Given the description of an element on the screen output the (x, y) to click on. 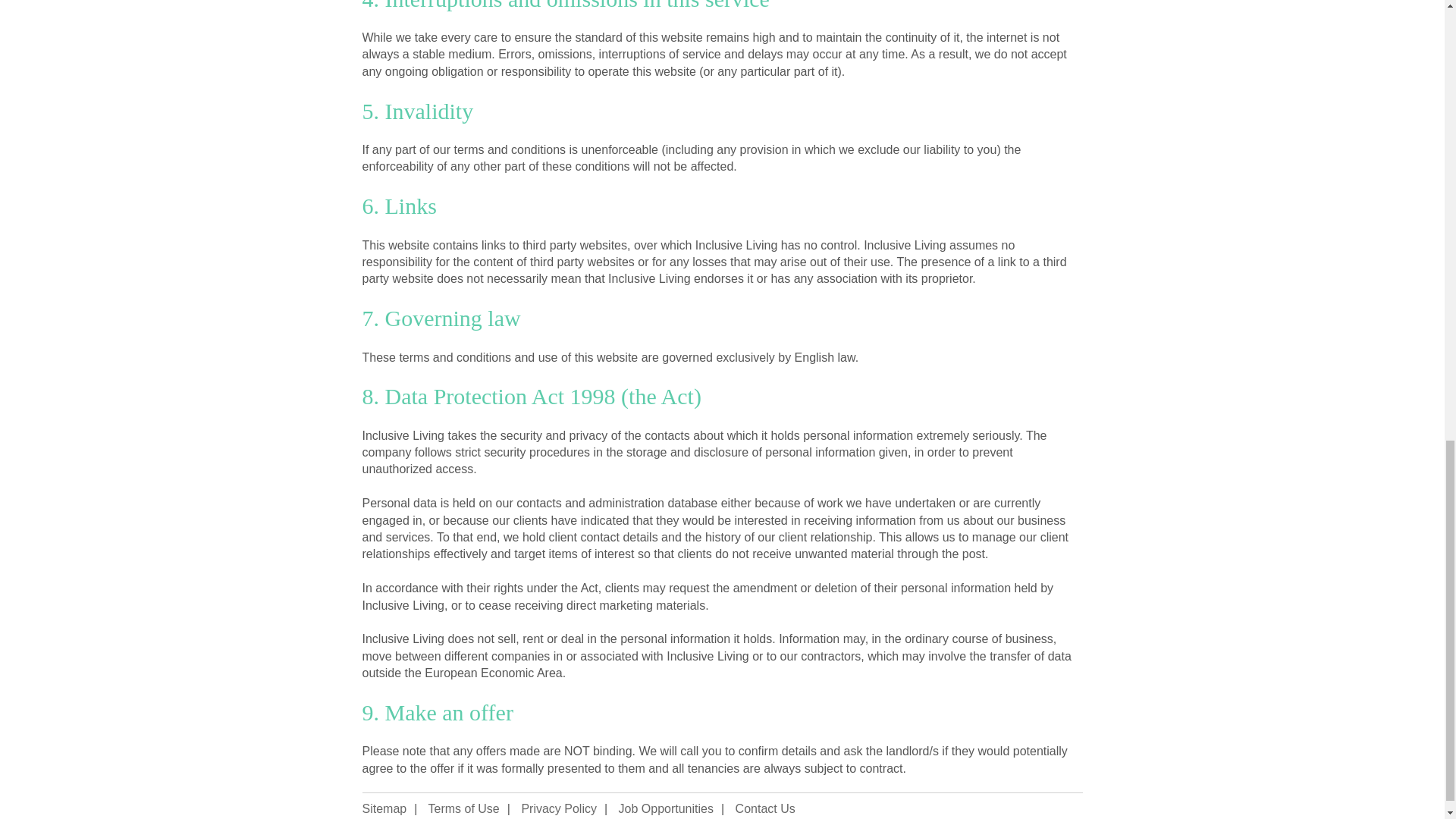
Privacy Policy (558, 808)
Contact Us (764, 808)
Job Opportunities (665, 808)
Sitemap (384, 808)
Terms of Use (463, 808)
